Given the description of an element on the screen output the (x, y) to click on. 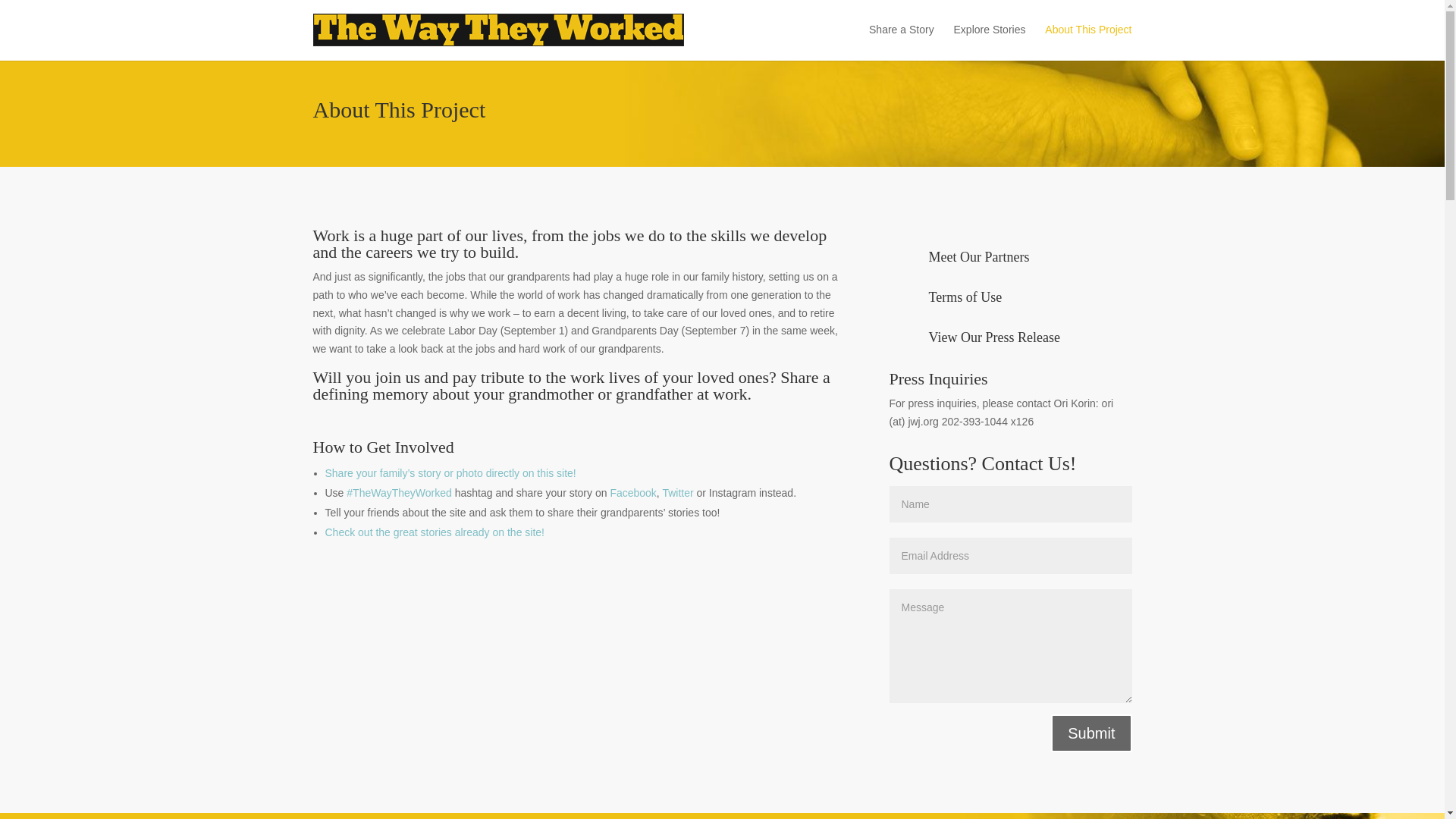
Submit (1091, 733)
Facebook (633, 492)
Twitter (677, 492)
About This Project (1088, 40)
Submit (1091, 733)
Email Address (1009, 555)
View Our Press Release (993, 337)
Share Your Story (451, 472)
Meet Our Partners (978, 256)
Share a Story (901, 40)
Explore Stories (989, 40)
Explore (434, 532)
Name (1009, 504)
Terms of Use (964, 296)
Explore (398, 492)
